Given the description of an element on the screen output the (x, y) to click on. 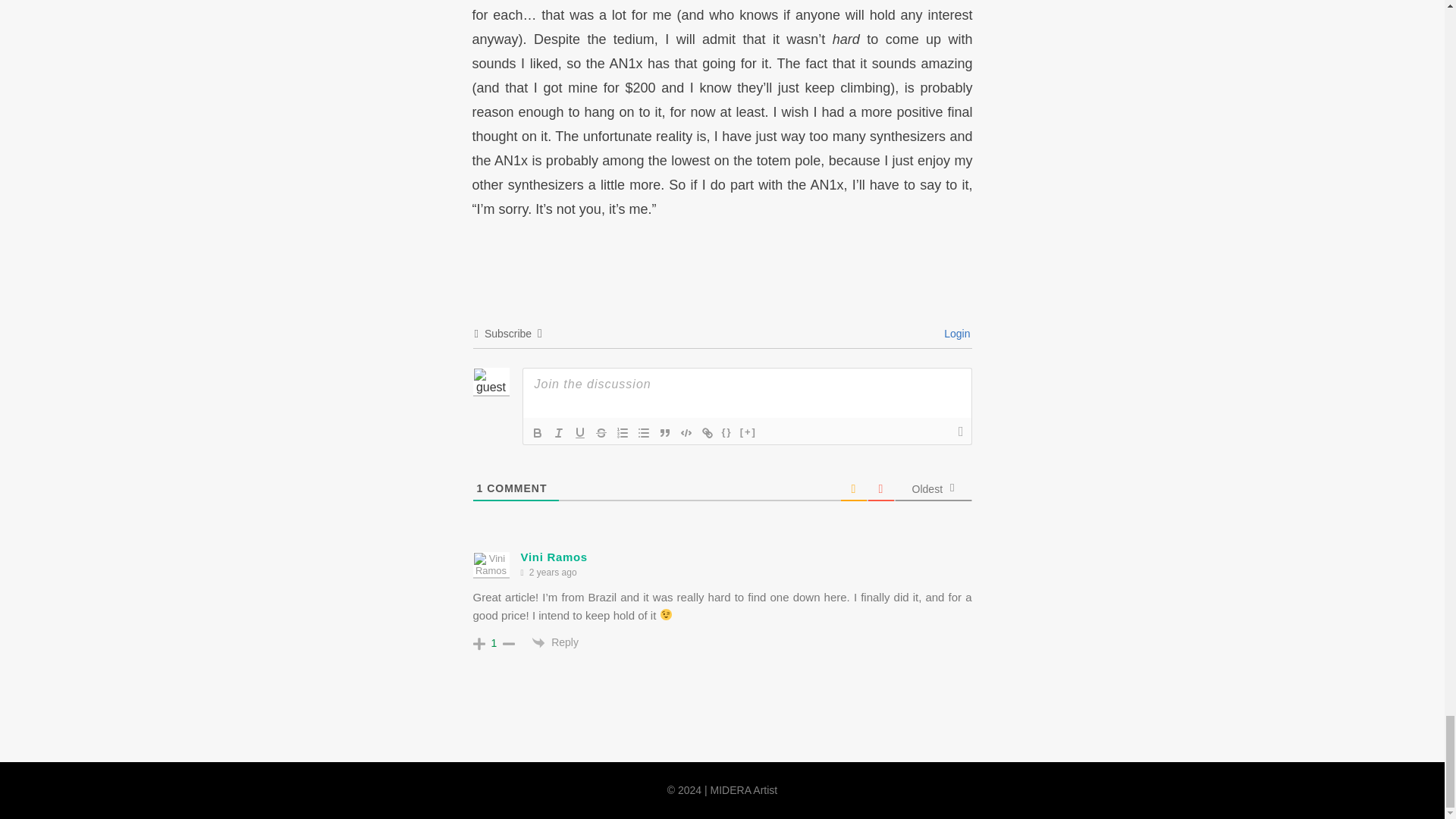
Login (954, 333)
Italic (558, 433)
Underline (579, 433)
Link (706, 433)
Unordered List (642, 433)
Blockquote (664, 433)
Ordered List (621, 433)
Source Code (726, 433)
Strike (600, 433)
Spoiler (748, 433)
Bold (536, 433)
Code Block (685, 433)
